Given the description of an element on the screen output the (x, y) to click on. 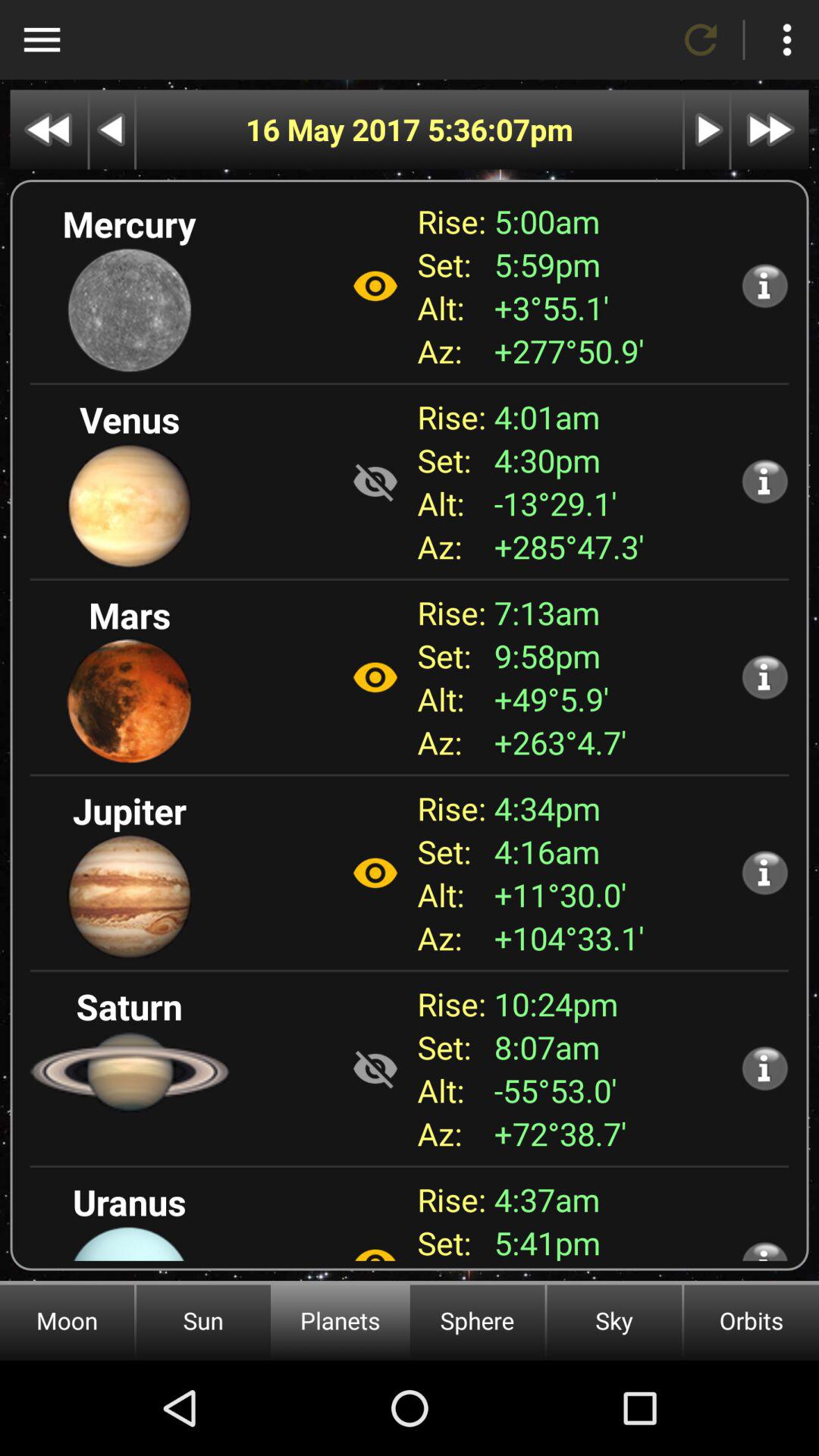
go to last date (769, 129)
